Given the description of an element on the screen output the (x, y) to click on. 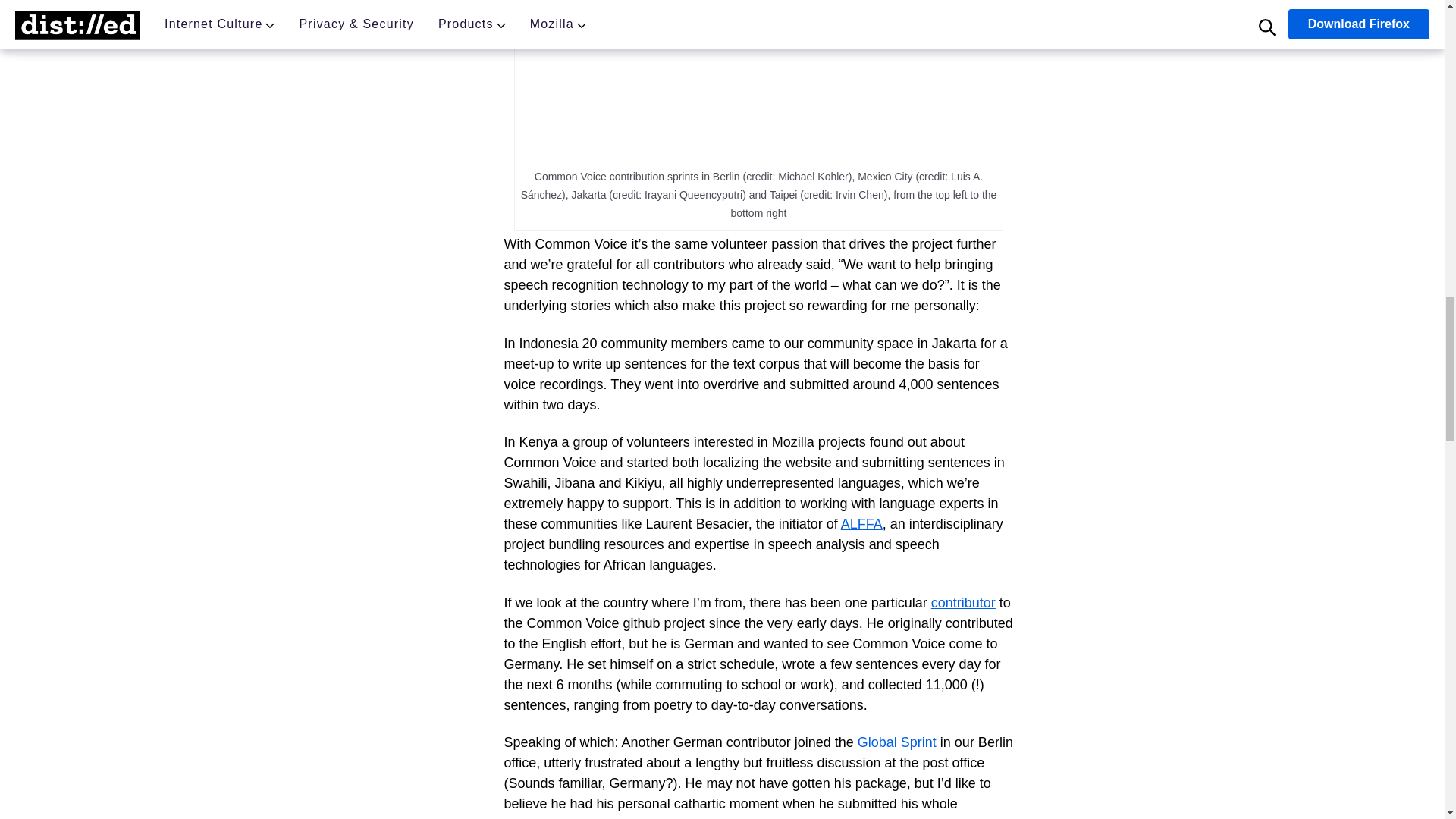
contributor (963, 602)
Global Sprint (896, 742)
ALFFA (861, 523)
